Given the description of an element on the screen output the (x, y) to click on. 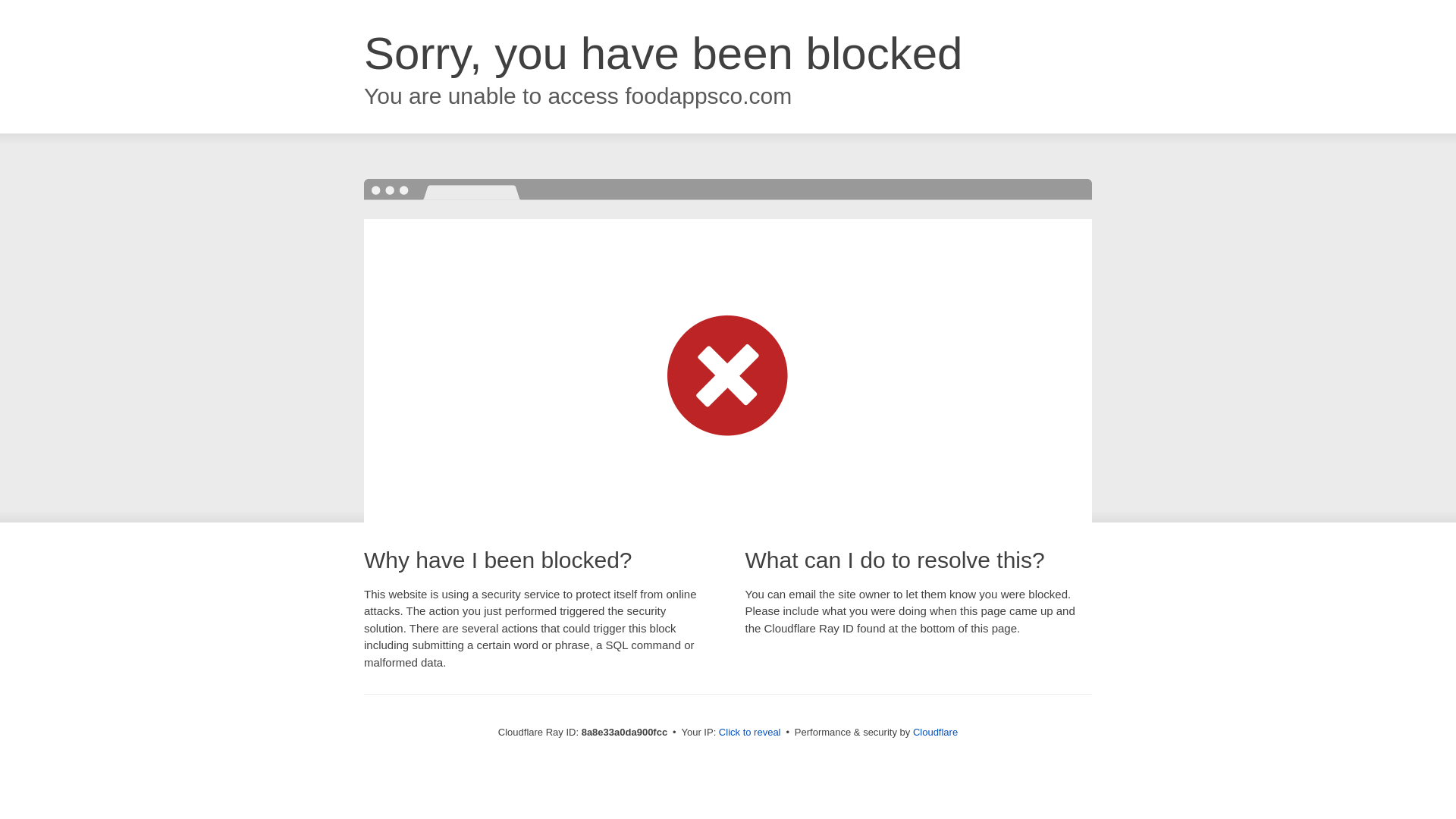
Cloudflare (935, 731)
Click to reveal (749, 732)
